Given the description of an element on the screen output the (x, y) to click on. 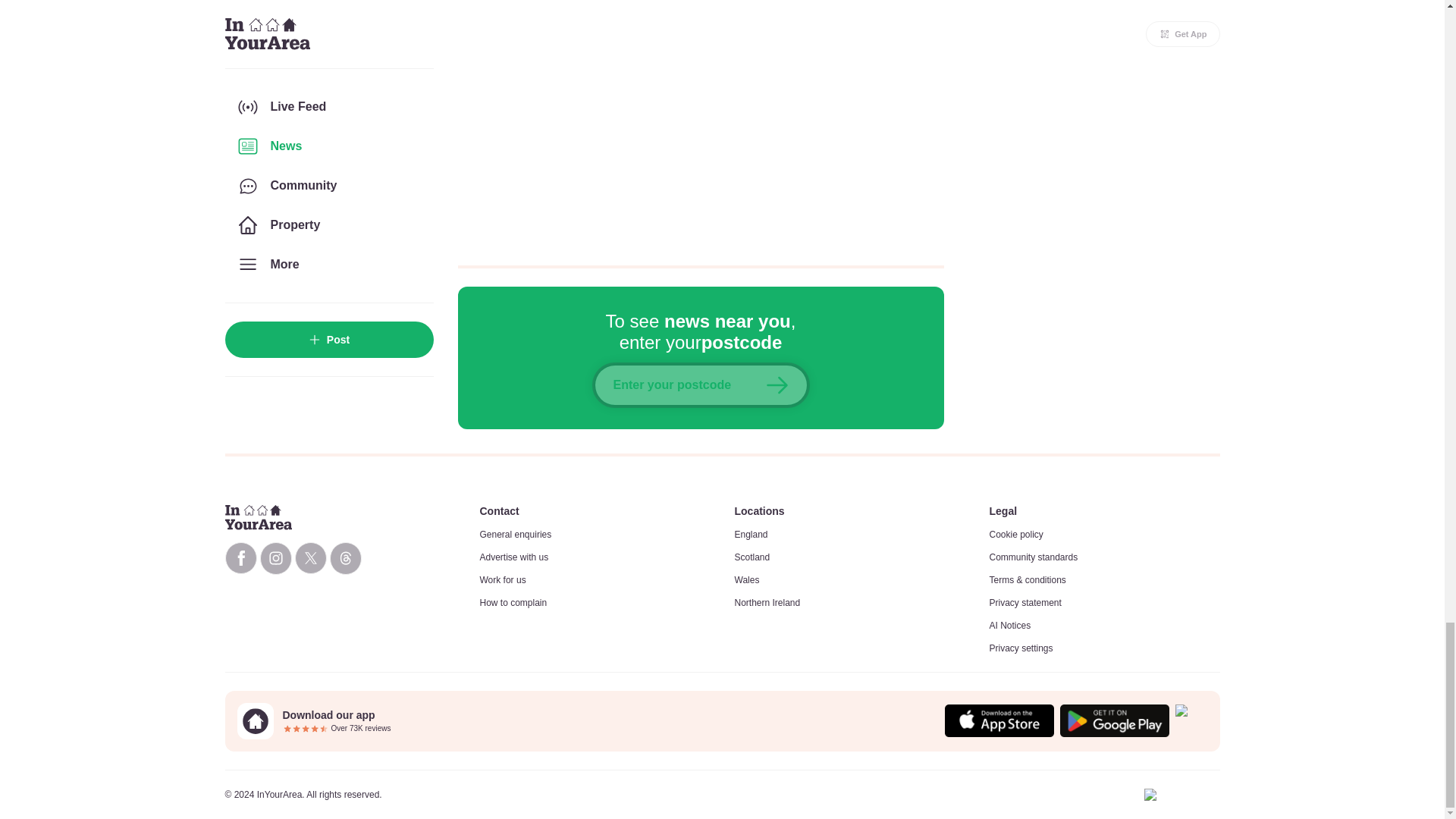
InYourArea Instagram (275, 558)
InYourArea Threads (345, 558)
InYourArea Facebook (240, 558)
InYourArea X (310, 558)
comments (701, 122)
